Given the description of an element on the screen output the (x, y) to click on. 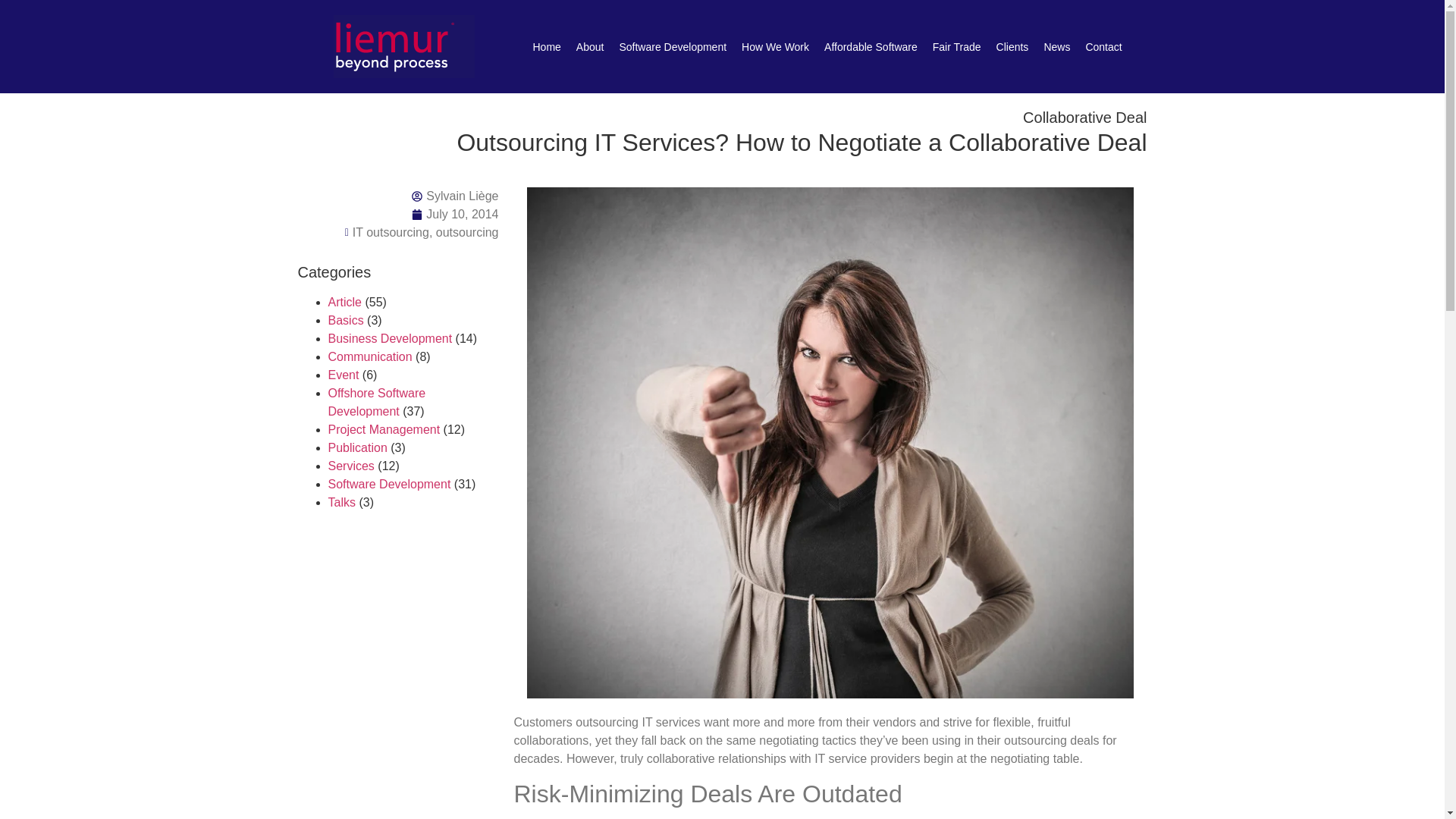
Communication (369, 356)
IT outsourcing (390, 232)
Contact (1103, 45)
Event (342, 374)
Software Development (388, 483)
Basics (344, 319)
Software Development (672, 45)
Business Development (389, 338)
Clients (1012, 45)
Fair Trade (956, 45)
